Given the description of an element on the screen output the (x, y) to click on. 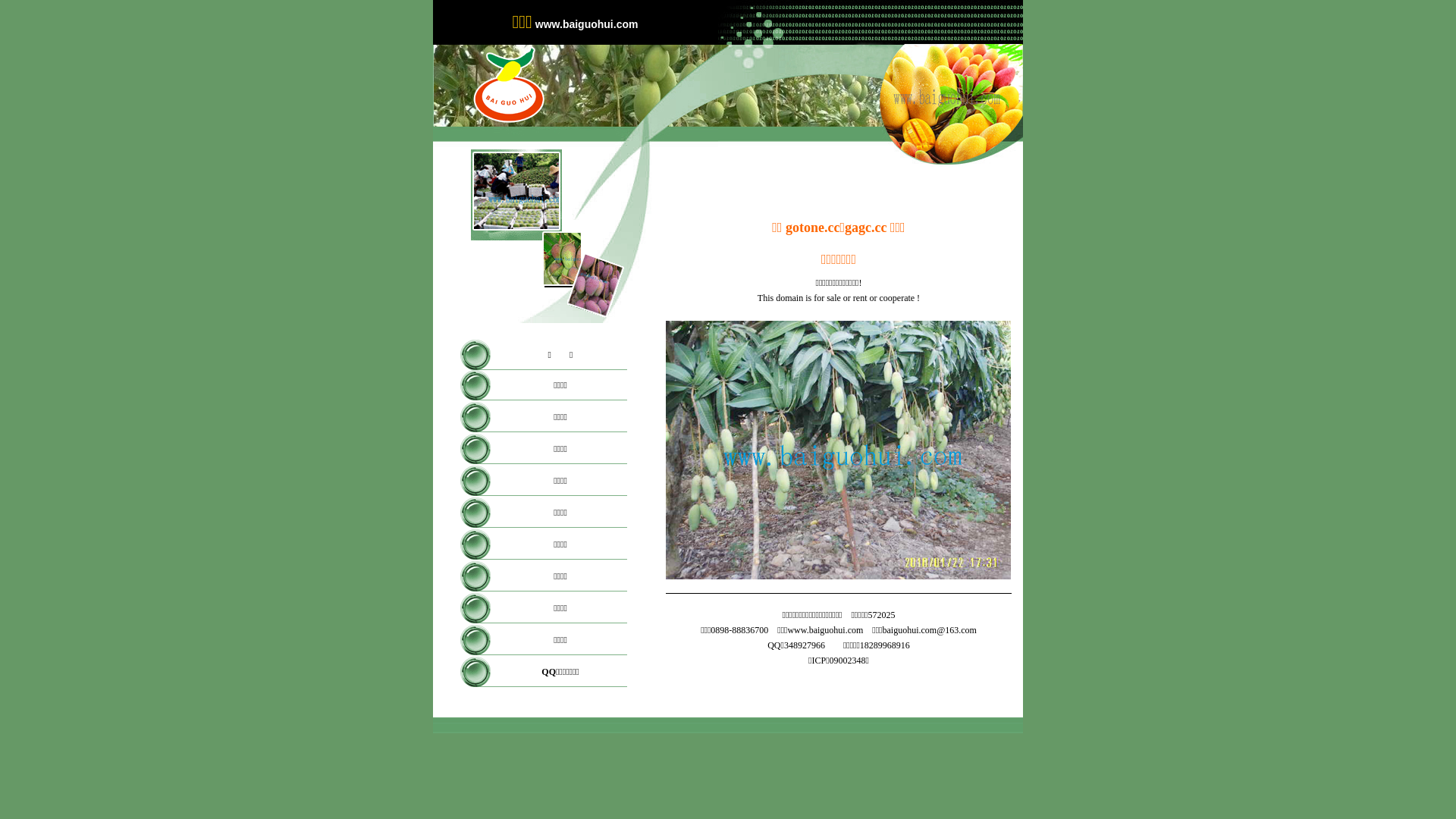
www.baiguohui.com Element type: text (824, 629)
